Given the description of an element on the screen output the (x, y) to click on. 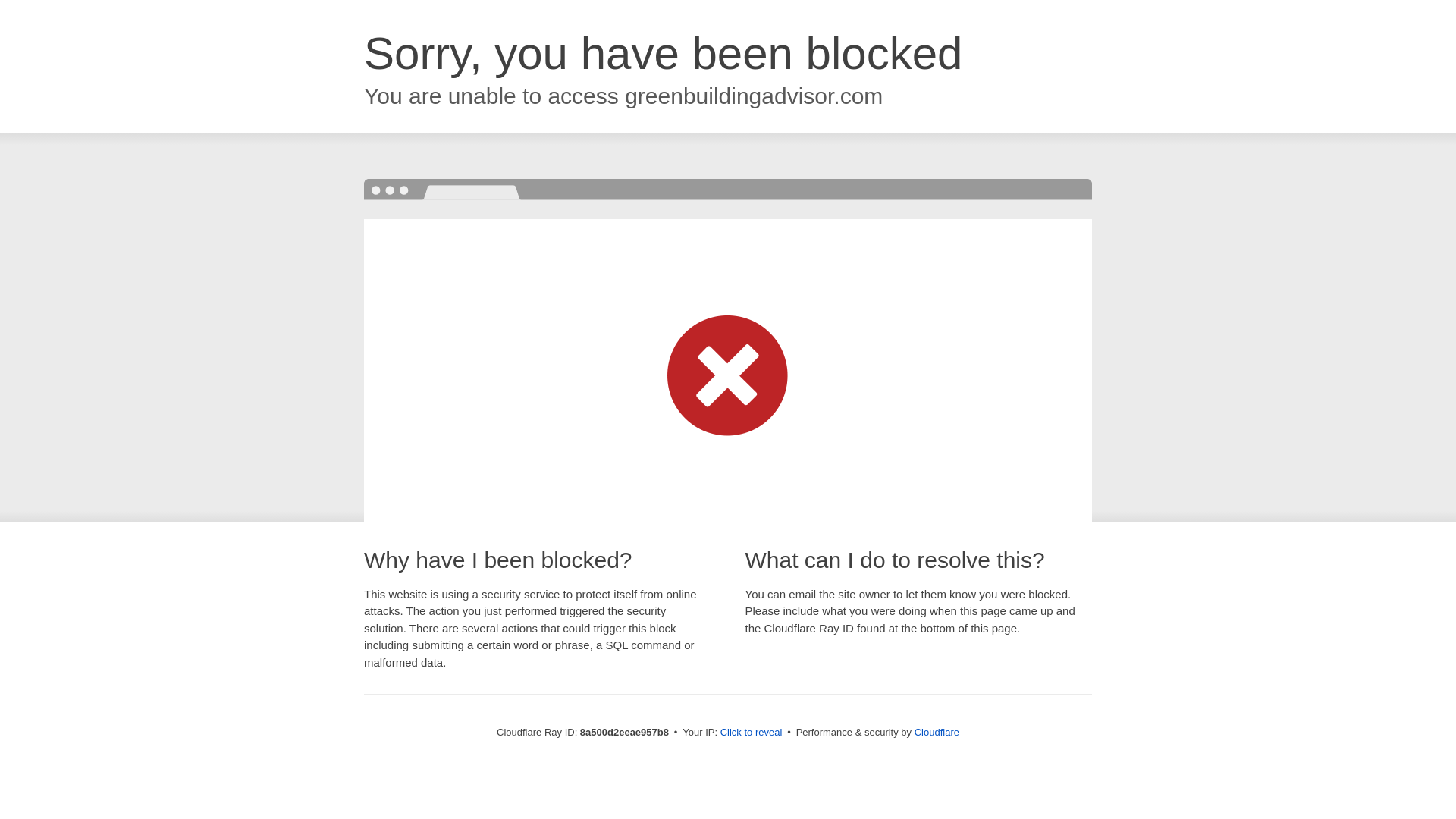
Cloudflare (936, 731)
Click to reveal (751, 732)
